Given the description of an element on the screen output the (x, y) to click on. 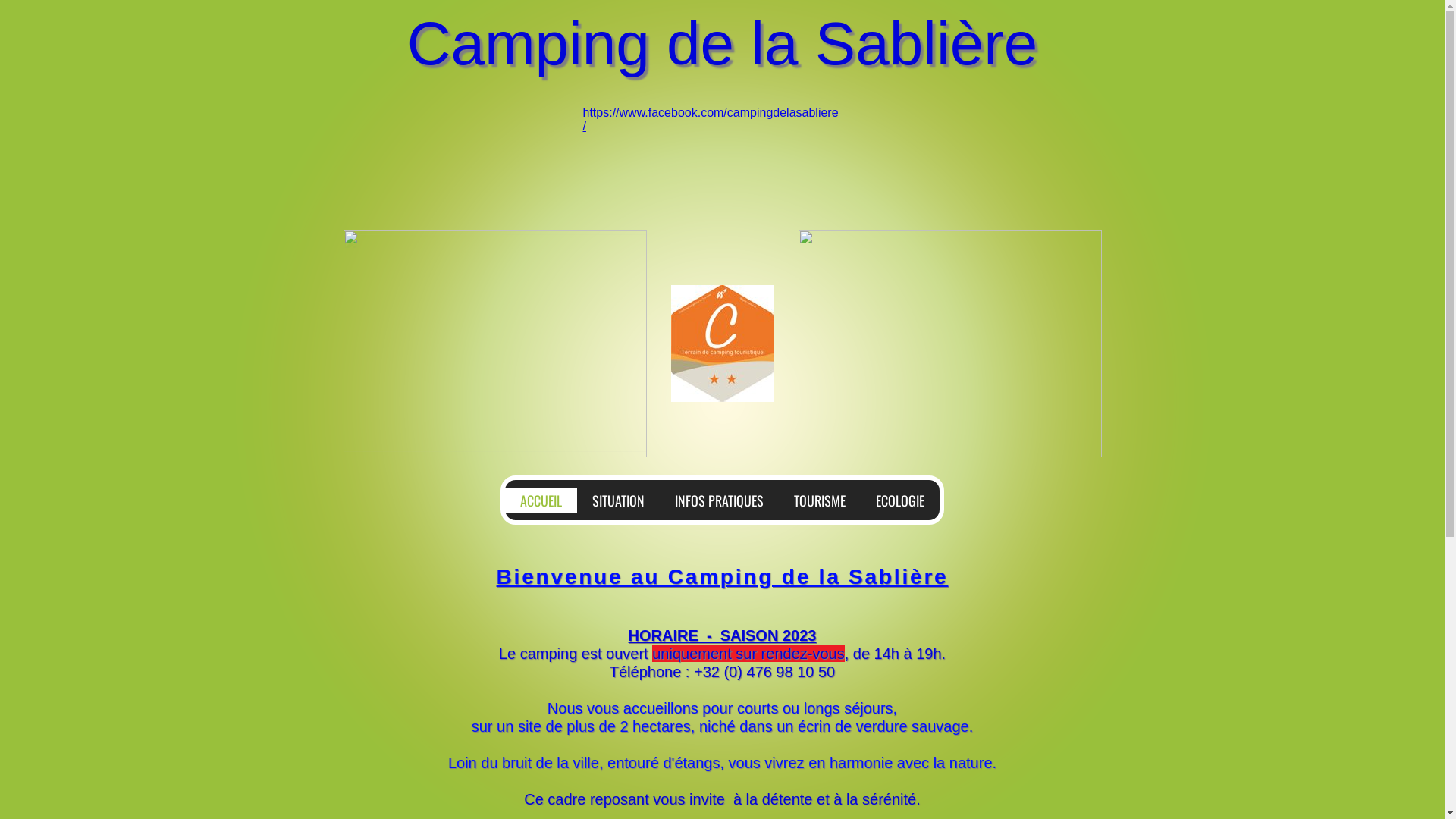
ECOLOGIE Element type: text (899, 498)
INFOS PRATIQUES Element type: text (718, 498)
https://www.facebook.com/campingdelasabliere/ Element type: text (709, 119)
TOURISME Element type: text (819, 498)
SITUATION Element type: text (618, 498)
ACCUEIL Element type: text (541, 498)
